Given the description of an element on the screen output the (x, y) to click on. 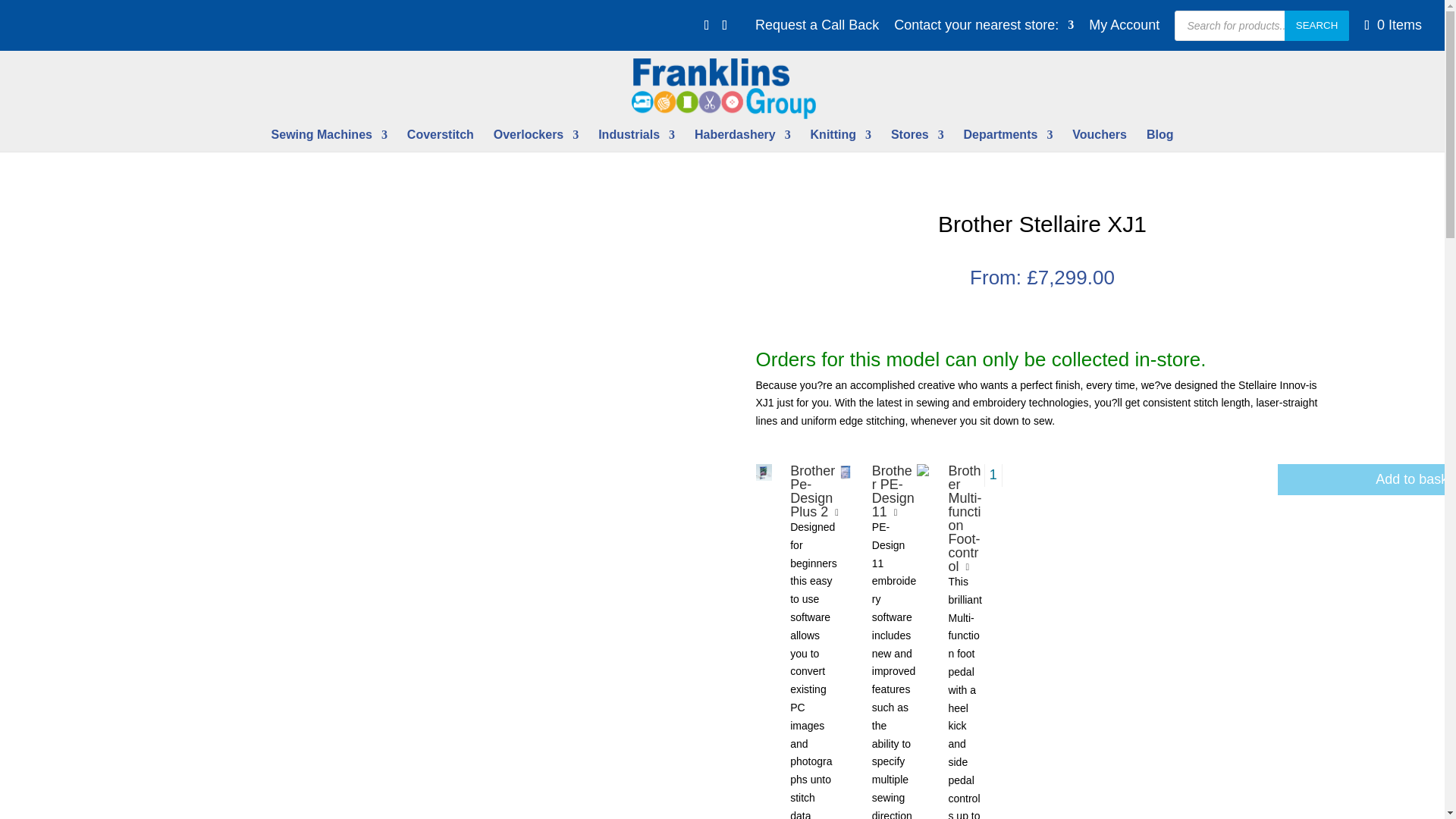
0 Items (1390, 23)
Brother Pe-design plus (763, 472)
My Account (1123, 30)
Contact your nearest store: (983, 30)
SEARCH (1316, 25)
Request a Call Back (817, 30)
Sewing Machines (328, 140)
